Given the description of an element on the screen output the (x, y) to click on. 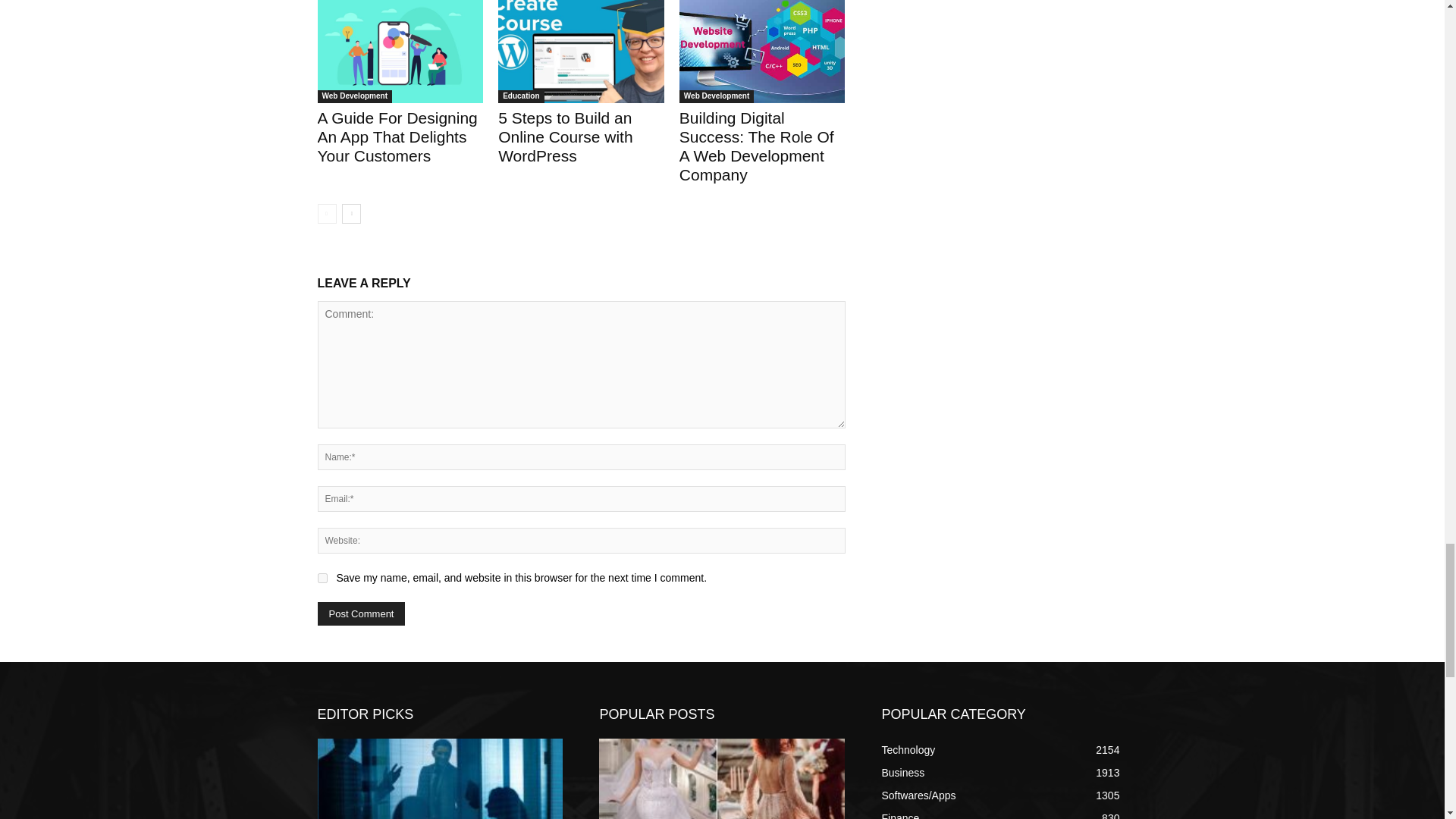
Post Comment (360, 613)
yes (321, 578)
